Given the description of an element on the screen output the (x, y) to click on. 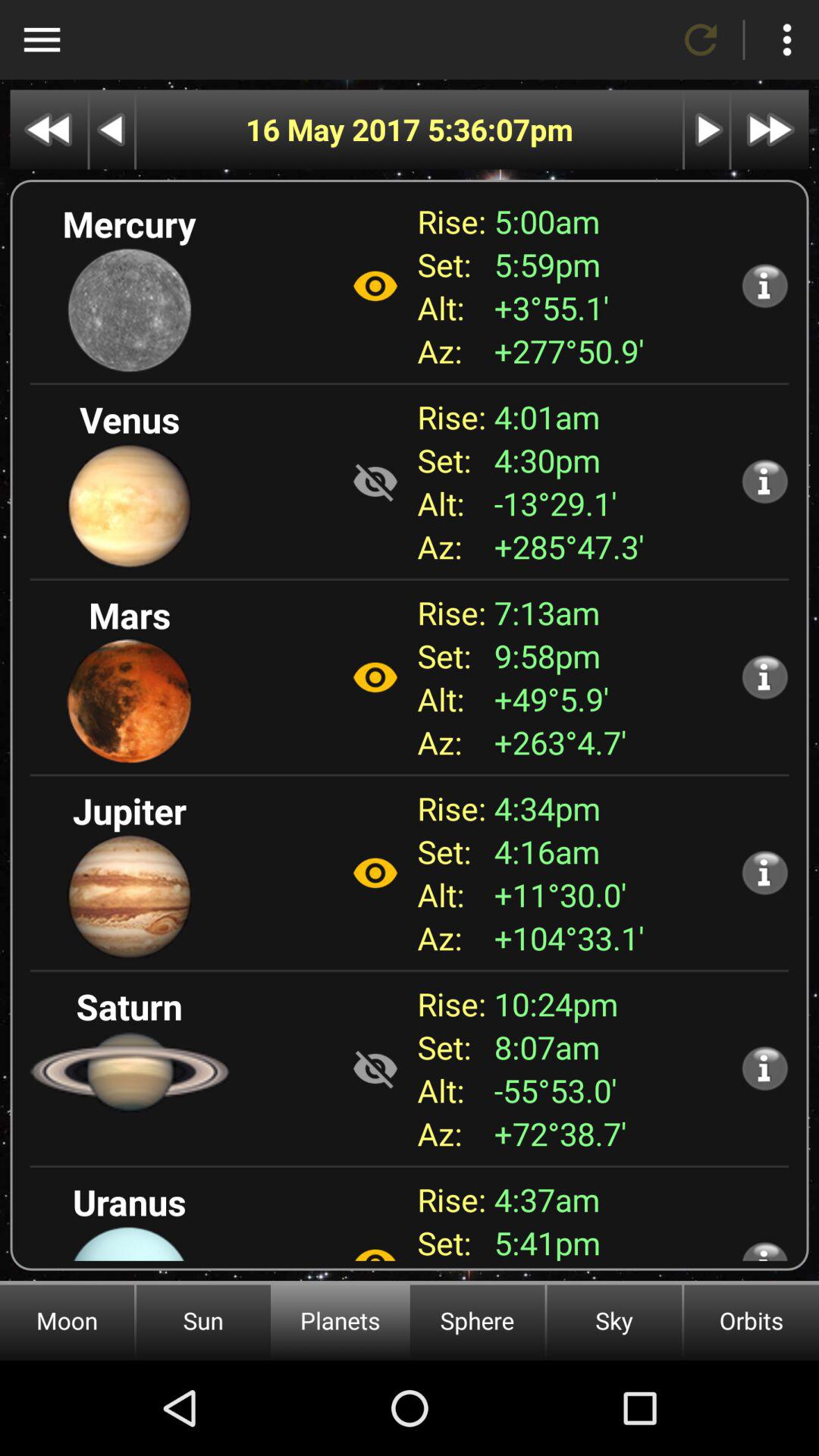
get more information (764, 1250)
